Given the description of an element on the screen output the (x, y) to click on. 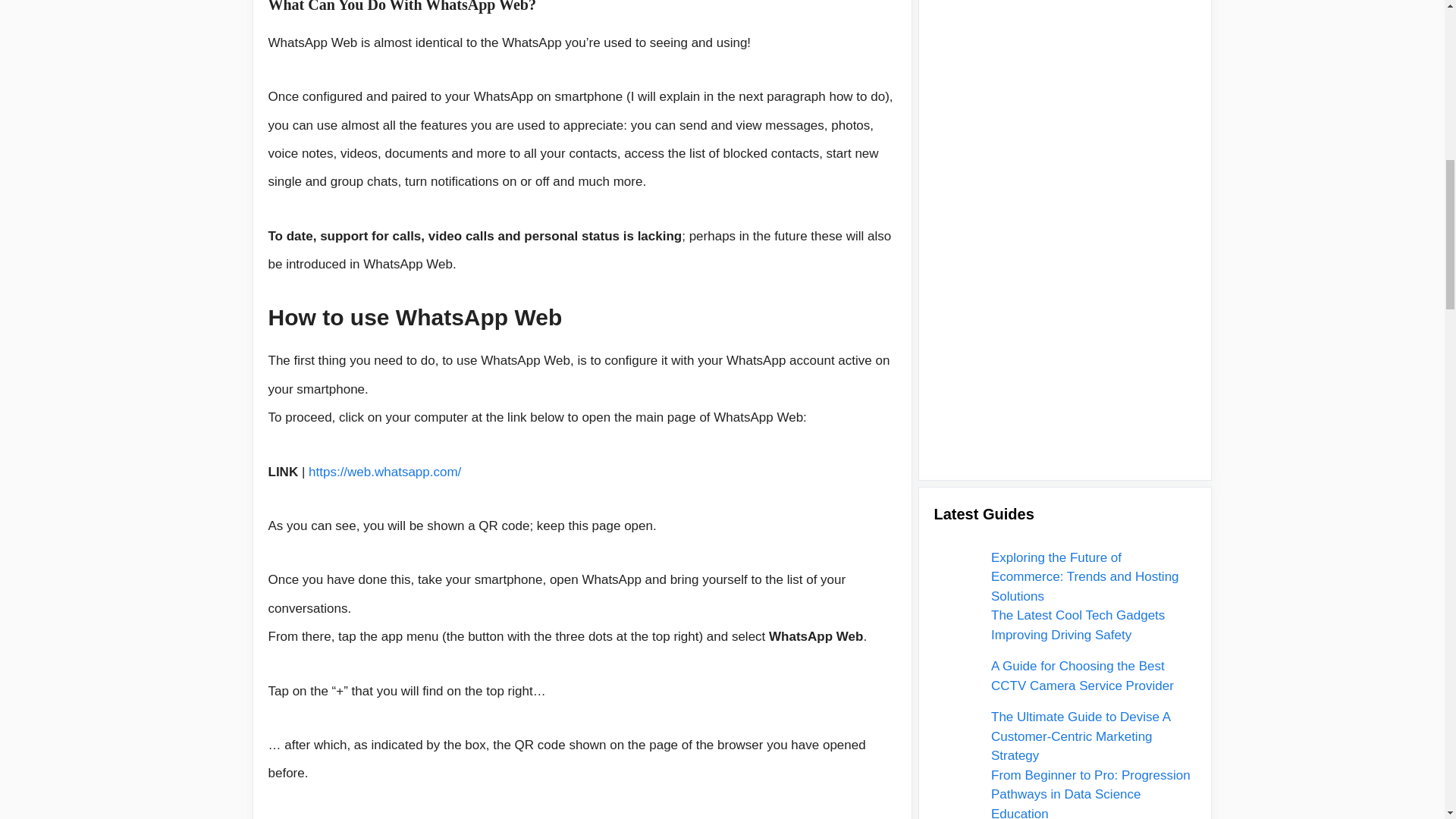
A Guide for Choosing the Best CCTV Camera Service Provider (1082, 62)
A Guide for Choosing the Best CCTV Camera Service Provider (953, 72)
The Latest Cool Tech Gadgets Improving Driving Safety (953, 20)
The Latest Cool Tech Gadgets Improving Driving Safety (1077, 14)
